Given the description of an element on the screen output the (x, y) to click on. 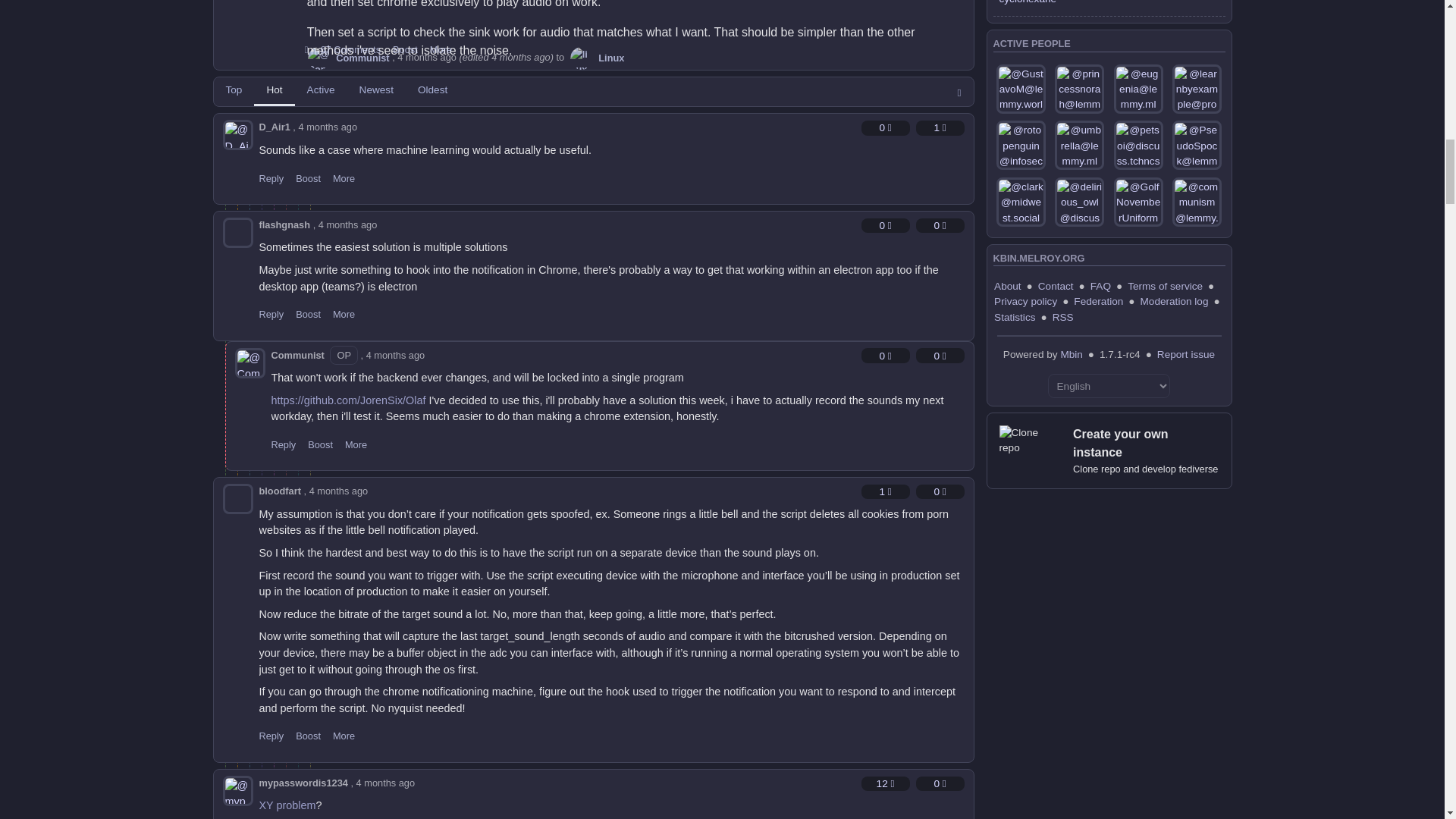
Linux (595, 57)
Communist (347, 57)
67 Comments (350, 49)
Active (321, 91)
Boost (405, 49)
Favorite (885, 127)
More (440, 49)
Reduce (939, 225)
Reduce (939, 127)
Hot (273, 91)
